Given the description of an element on the screen output the (x, y) to click on. 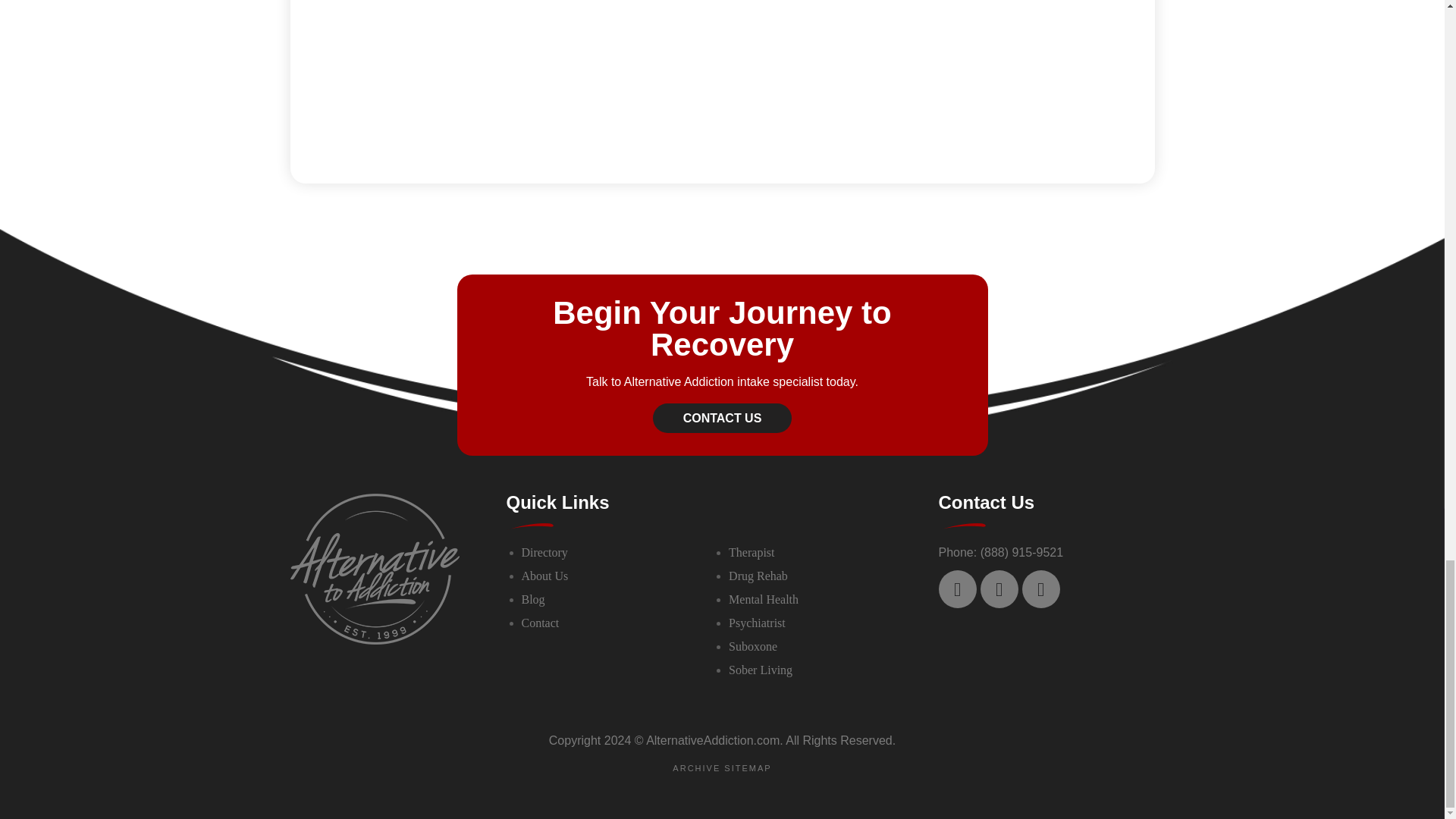
The Hawkeyes - Wanted Man - Lyric Video (856, 69)
